Given the description of an element on the screen output the (x, y) to click on. 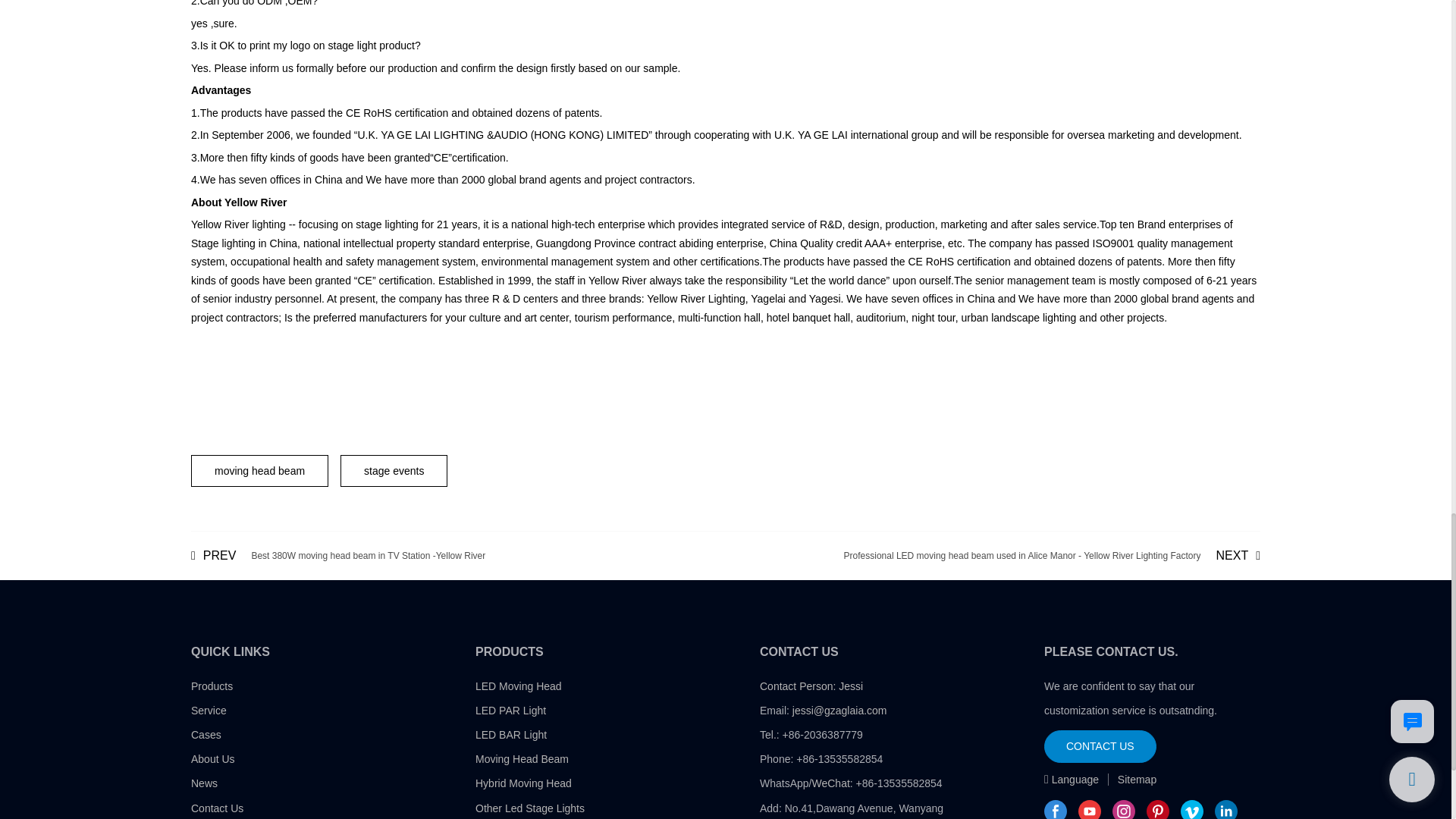
Best 380W moving head beam in TV Station -Yellow River (337, 555)
moving head beam (259, 470)
stage events (337, 555)
